Given the description of an element on the screen output the (x, y) to click on. 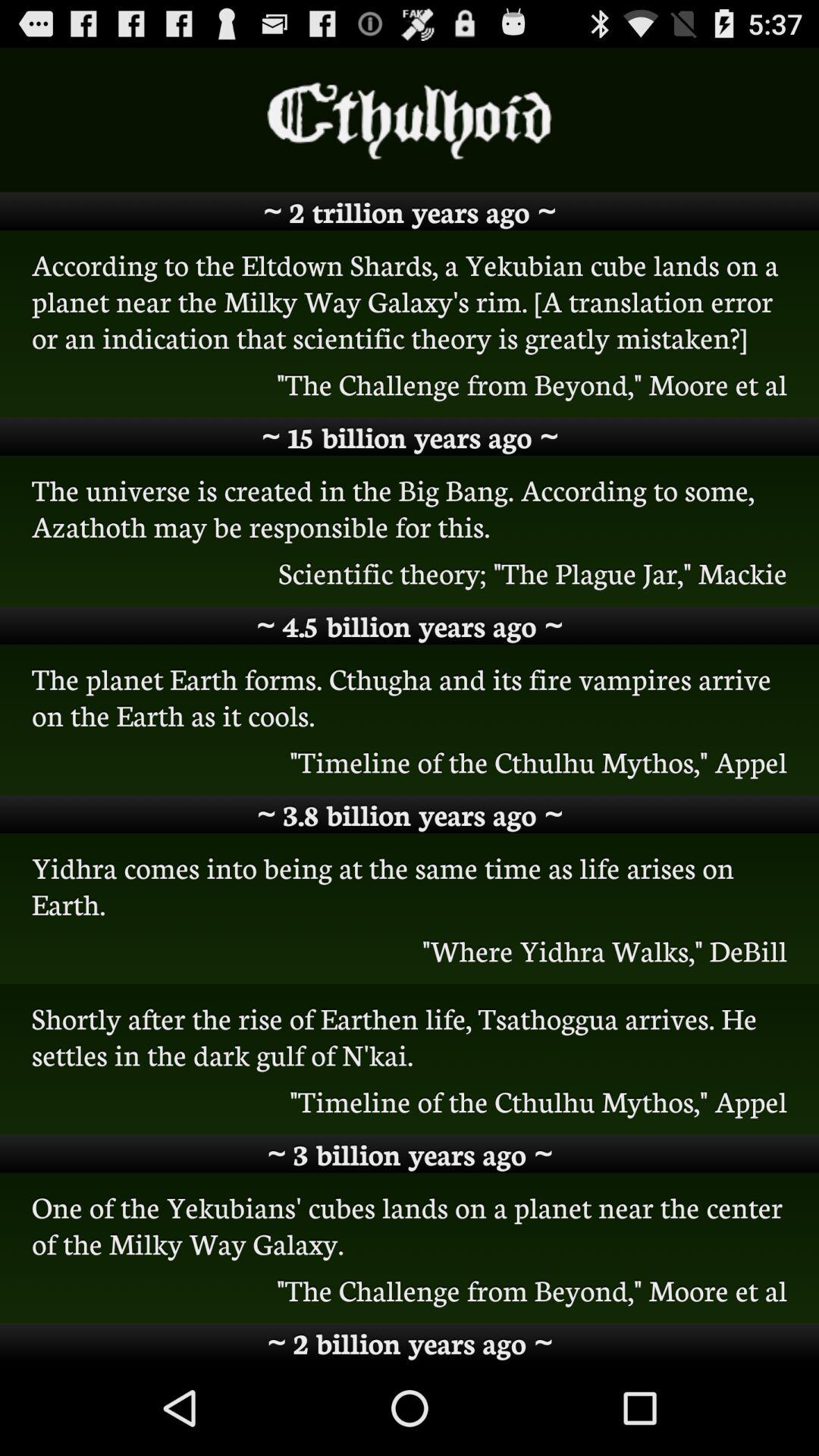
swipe until 3 8 billion icon (409, 814)
